Given the description of an element on the screen output the (x, y) to click on. 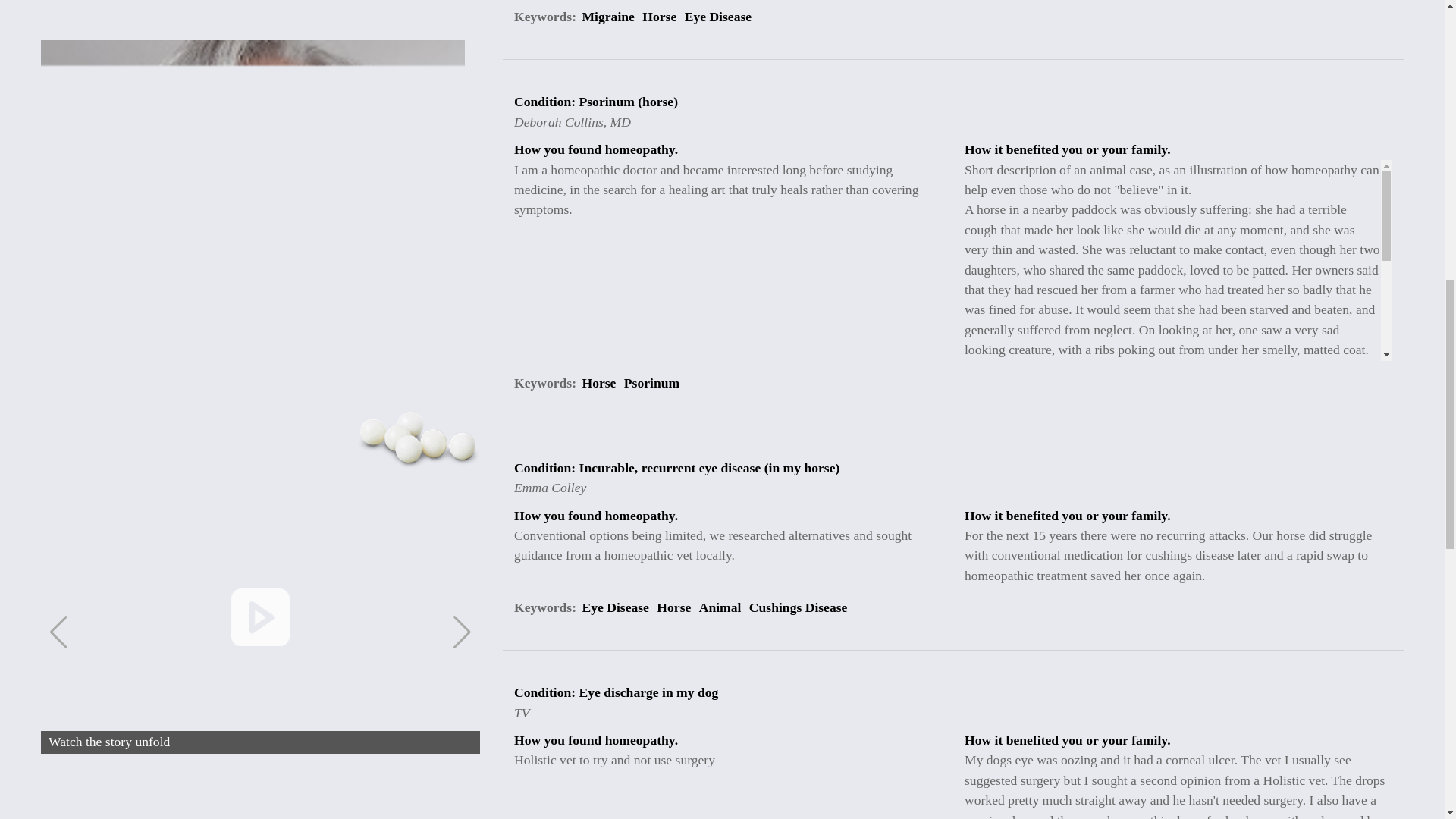
Holistic vet to try and not use surgery (952, 702)
